Given the description of an element on the screen output the (x, y) to click on. 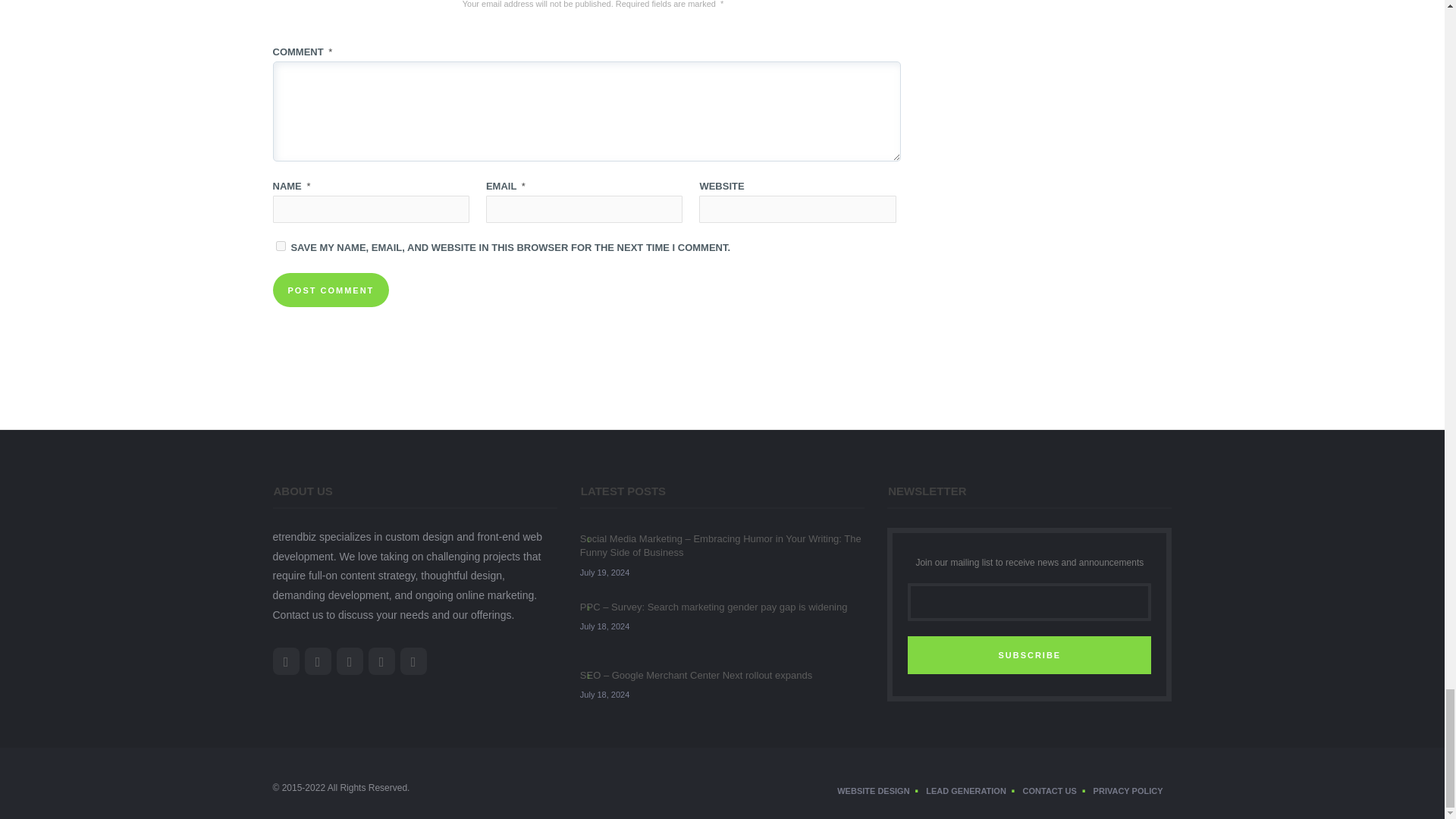
yes (280, 245)
Post Comment (331, 289)
